Given the description of an element on the screen output the (x, y) to click on. 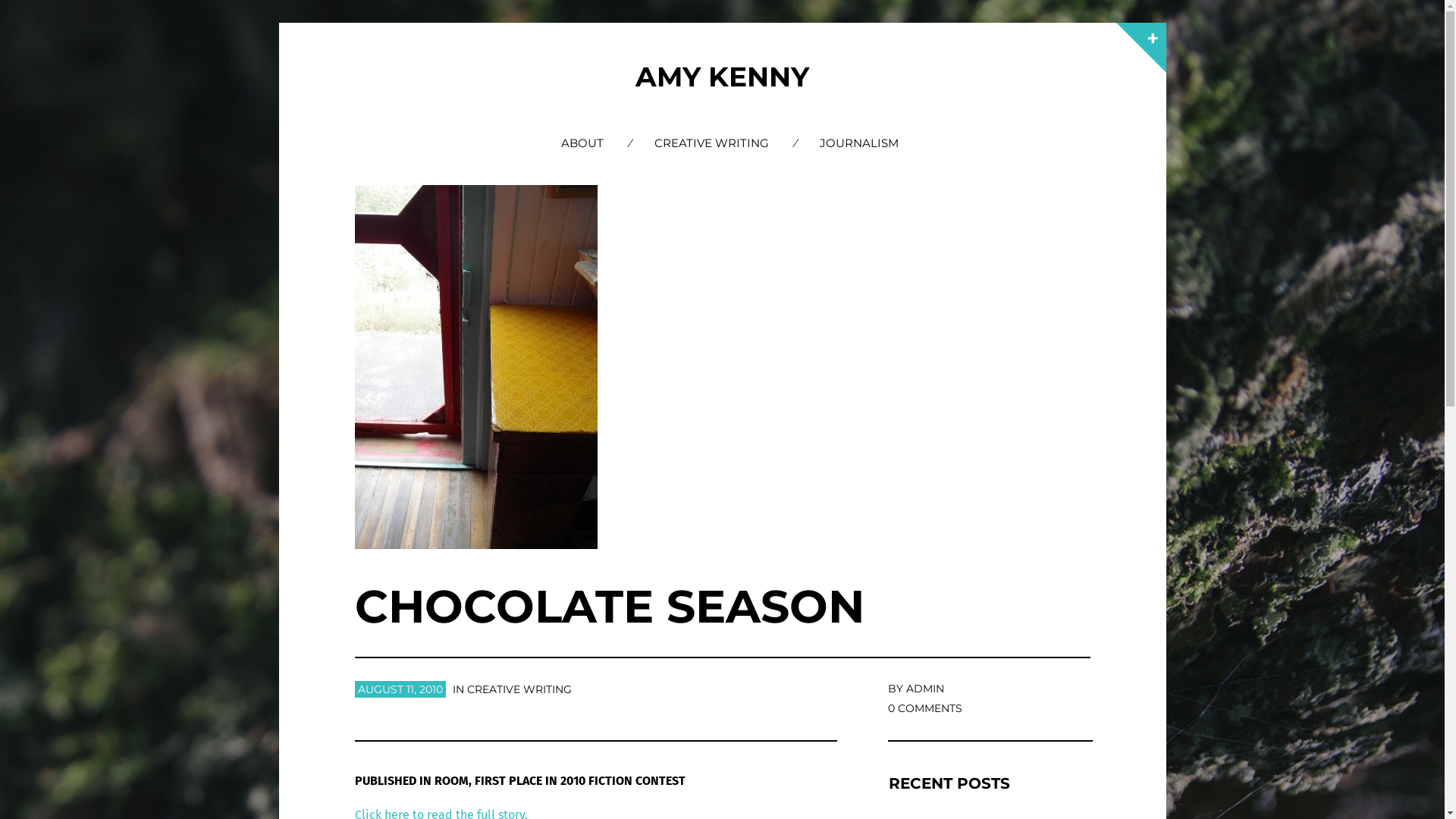
JOURNALISM Element type: text (859, 142)
CREATIVE WRITING Element type: text (711, 142)
ABOUT Element type: text (582, 142)
ADMIN Element type: text (925, 688)
AMY KENNY Element type: text (722, 76)
CREATIVE WRITING Element type: text (519, 689)
SKIP TO CONTENT Element type: text (732, 133)
